Given the description of an element on the screen output the (x, y) to click on. 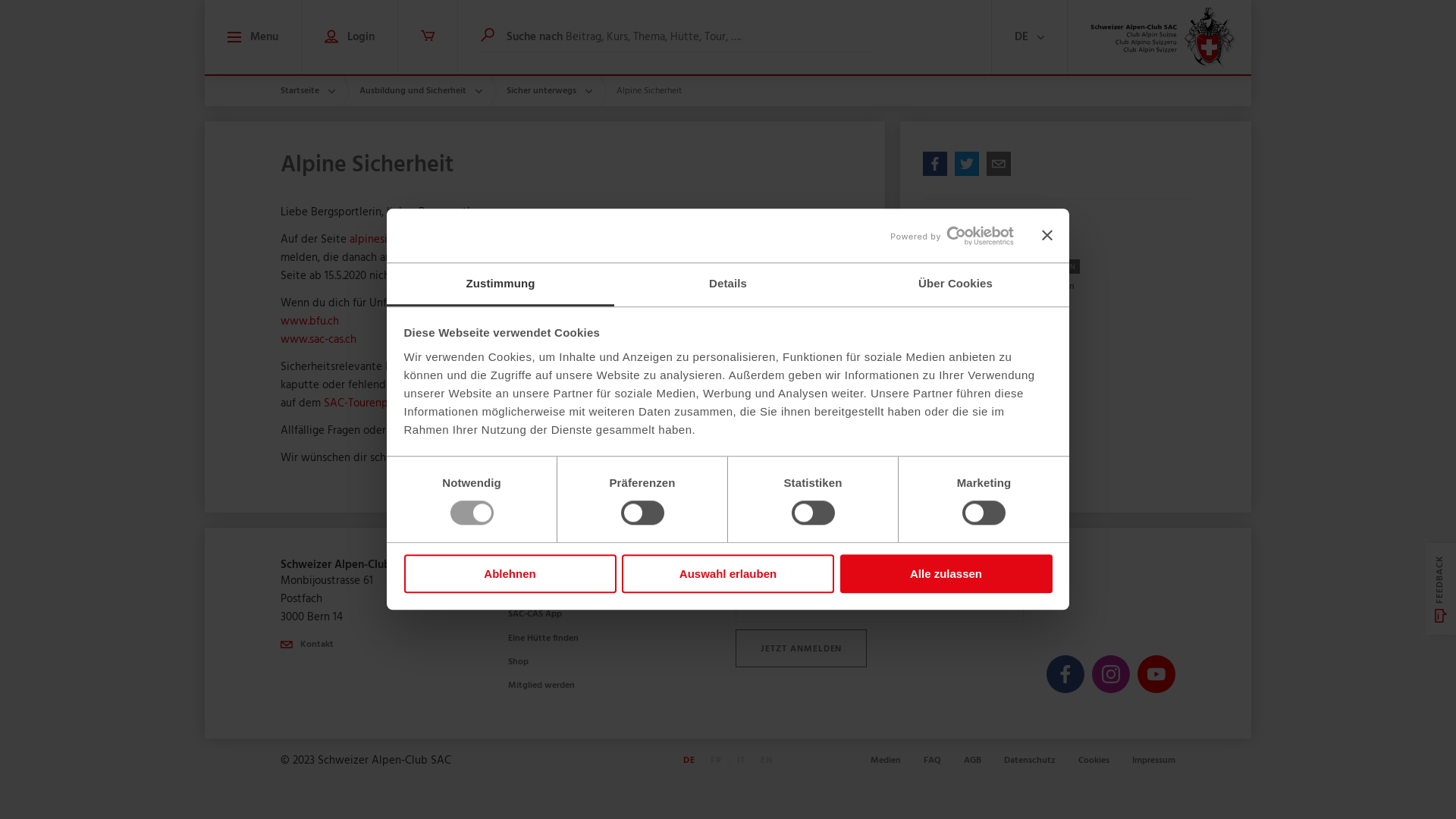
IT Element type: text (741, 760)
Details Element type: text (727, 284)
Auswahl erlauben Element type: text (727, 573)
FR Element type: text (715, 760)
Kontakt Element type: text (306, 644)
alpinesicherheit(at)sac-cas.ch Element type: text (596, 430)
DE Element type: text (1028, 37)
Warenkorb Element type: text (427, 37)
EN Element type: text (766, 760)
www.bfu.ch Element type: text (309, 321)
SAC-CAS App Element type: text (534, 614)
Mitglied werden Element type: text (541, 685)
Schweizer Alpen-Club SAC Element type: hover (1163, 36)
AGB Element type: text (972, 760)
Cookies Element type: text (1093, 760)
Impressum Element type: text (1153, 760)
Jetzt anmelden Element type: text (800, 648)
Shop Element type: text (518, 662)
EN Element type: text (1169, 50)
www.sac-cas.ch Element type: text (318, 339)
Ausbildung und Sicherheit Element type: text (420, 90)
SAC-Tourenportal Element type: text (367, 403)
alpinesicherheit.ch Element type: text (395, 239)
Alle zulassen Element type: text (946, 573)
Kontakt Element type: text (651, 52)
Medien Element type: text (885, 760)
Zustandswarnungen Element type: text (1090, 286)
FAQ Element type: text (932, 760)
gipfelbuch.ch Element type: text (600, 403)
FR Element type: text (1118, 50)
Zustimmung Element type: text (500, 284)
Ablehnen Element type: text (509, 573)
Login Element type: text (349, 37)
DE Element type: text (689, 760)
Sicher unterwegs Element type: text (549, 90)
Menu Element type: text (252, 37)
SAC-Tourenportal Element type: text (543, 590)
Startseite Element type: text (307, 90)
+41 31 370 18 18 Element type: text (555, 52)
Datenschutz Element type: text (1029, 760)
DE Element type: text (1091, 50)
IT Element type: text (1143, 50)
